Given the description of an element on the screen output the (x, y) to click on. 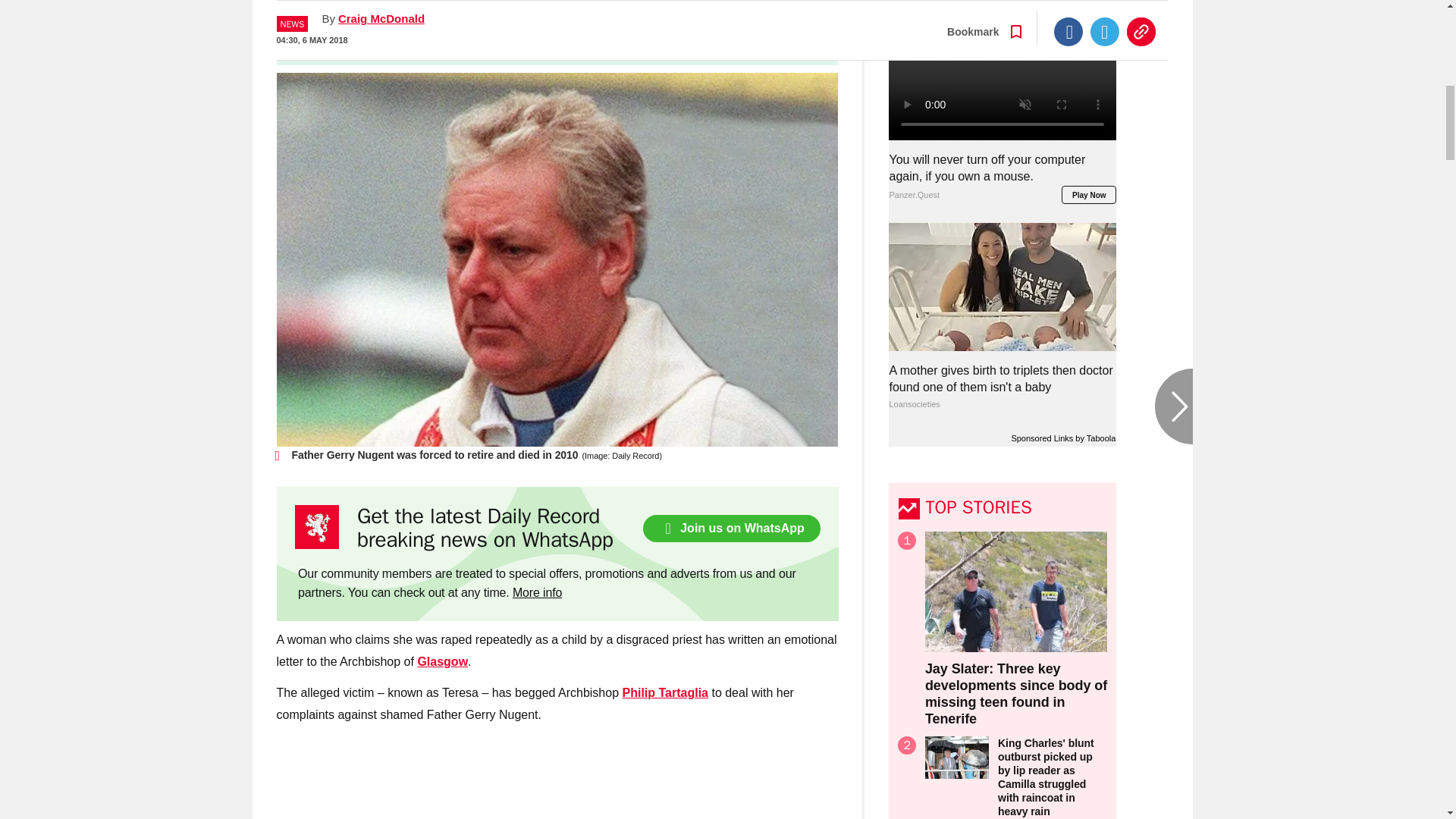
Go (730, 38)
